Given the description of an element on the screen output the (x, y) to click on. 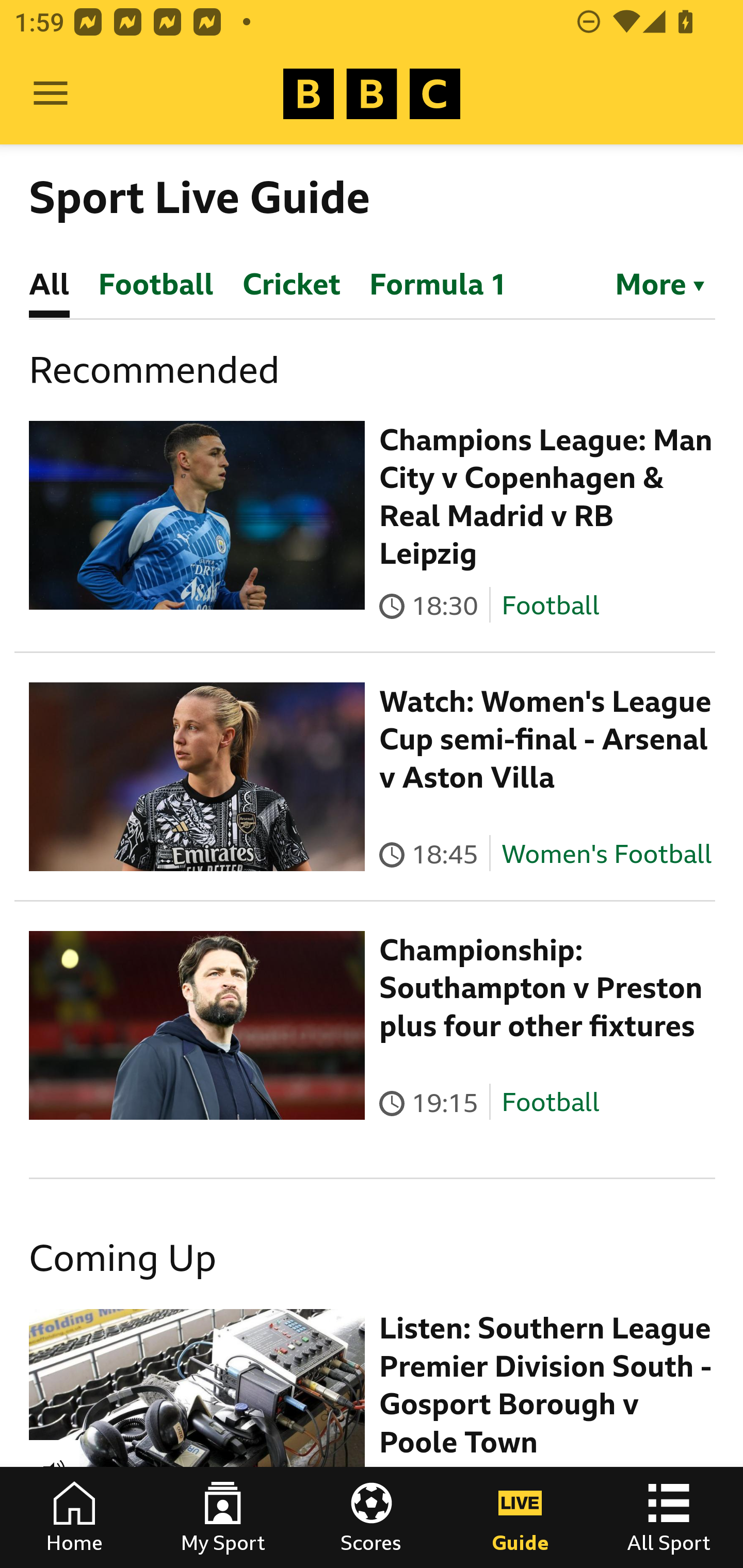
Open Menu (50, 93)
Football (550, 604)
Women's Football (606, 853)
Football (550, 1102)
Home (74, 1517)
My Sport (222, 1517)
Scores (371, 1517)
All Sport (668, 1517)
